Given the description of an element on the screen output the (x, y) to click on. 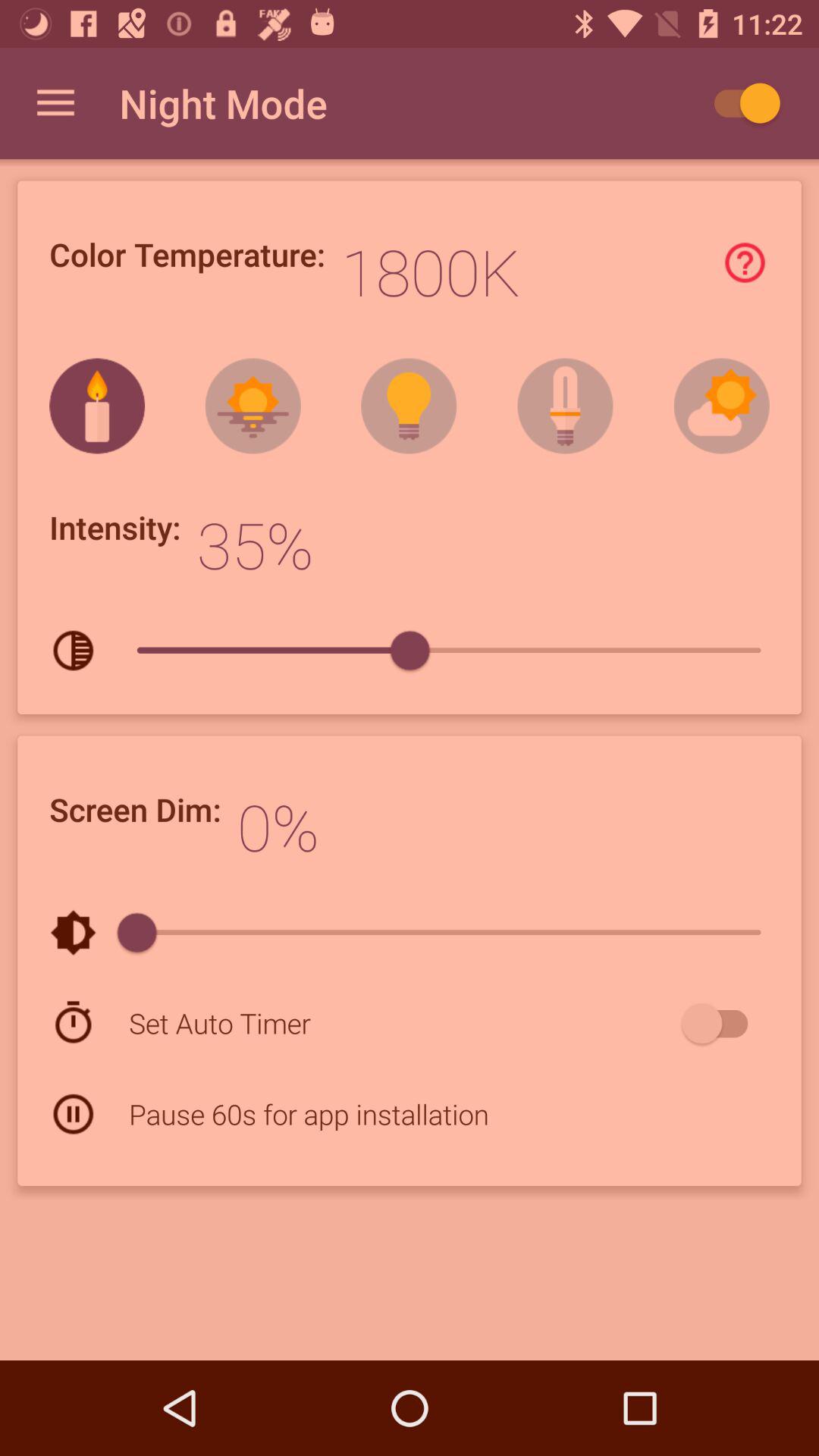
launch the item at the bottom right corner (722, 1023)
